Given the description of an element on the screen output the (x, y) to click on. 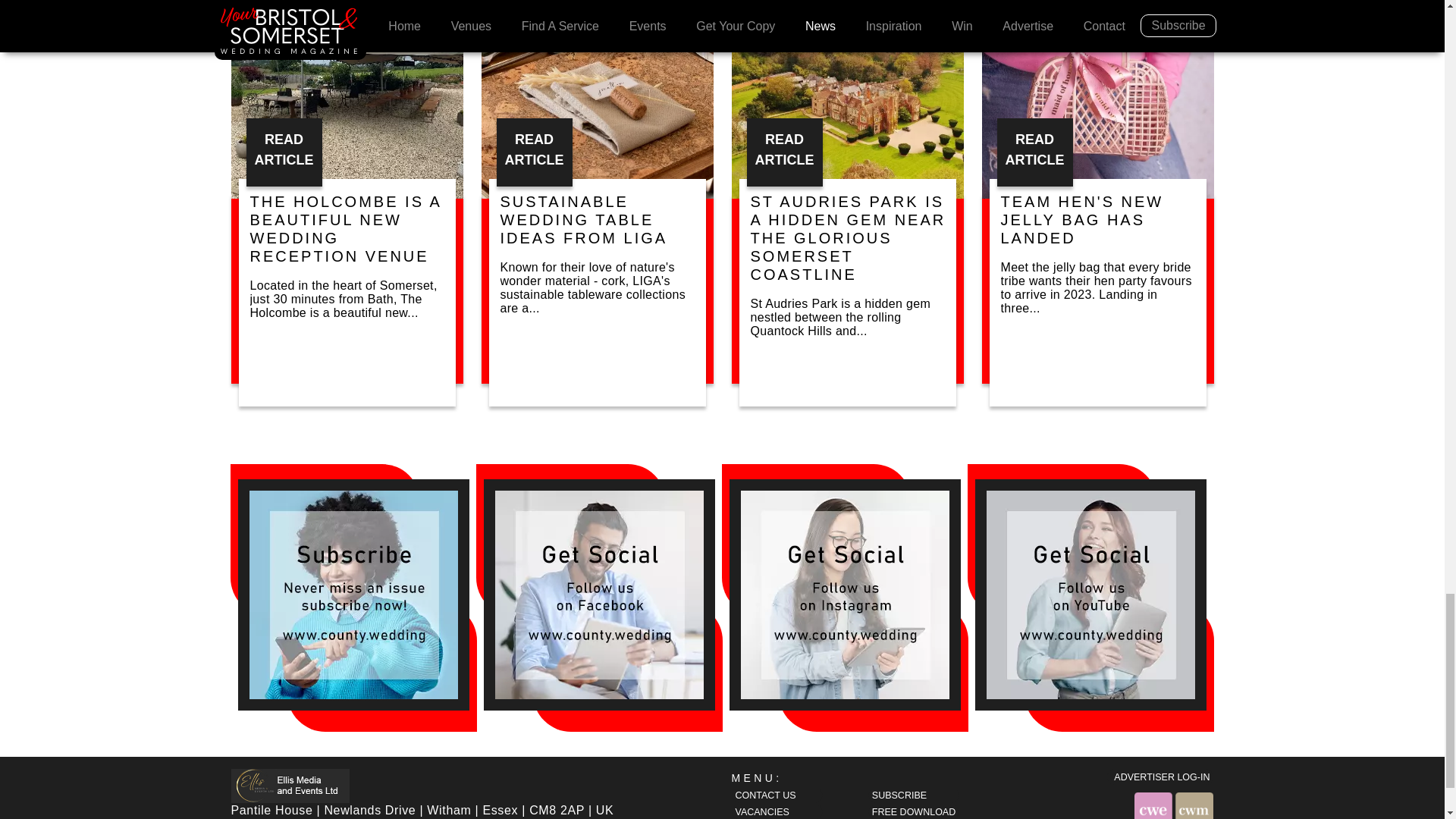
VACANCIES (776, 811)
CONTACT US (776, 795)
Sustainable wedding table ideas from LIGA (596, 99)
SUBSCRIBE (913, 795)
The Holcombe is a beautiful new wedding reception venue (346, 99)
